Given the description of an element on the screen output the (x, y) to click on. 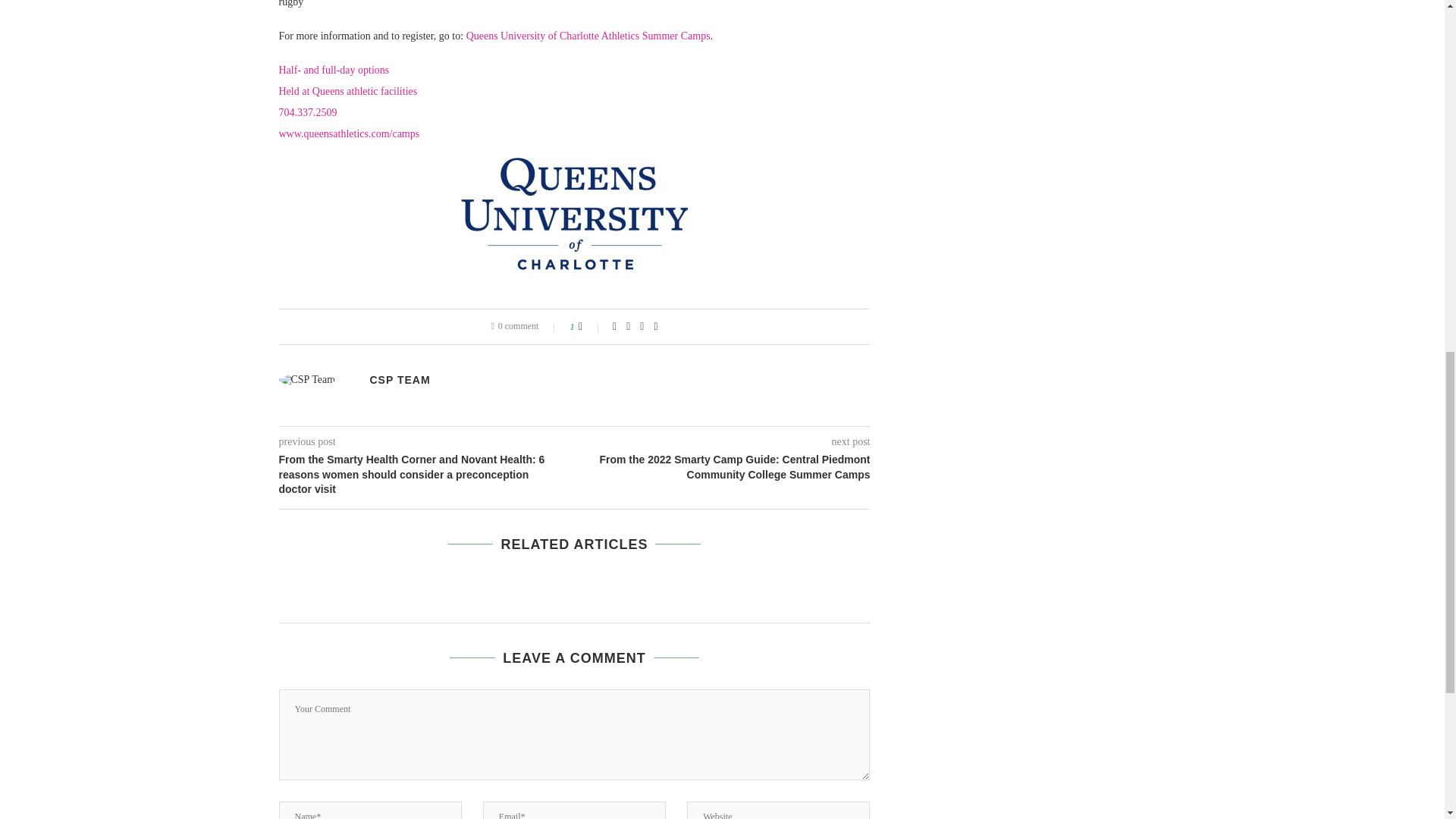
Posts by CSP Team (399, 379)
Like (590, 326)
